Given the description of an element on the screen output the (x, y) to click on. 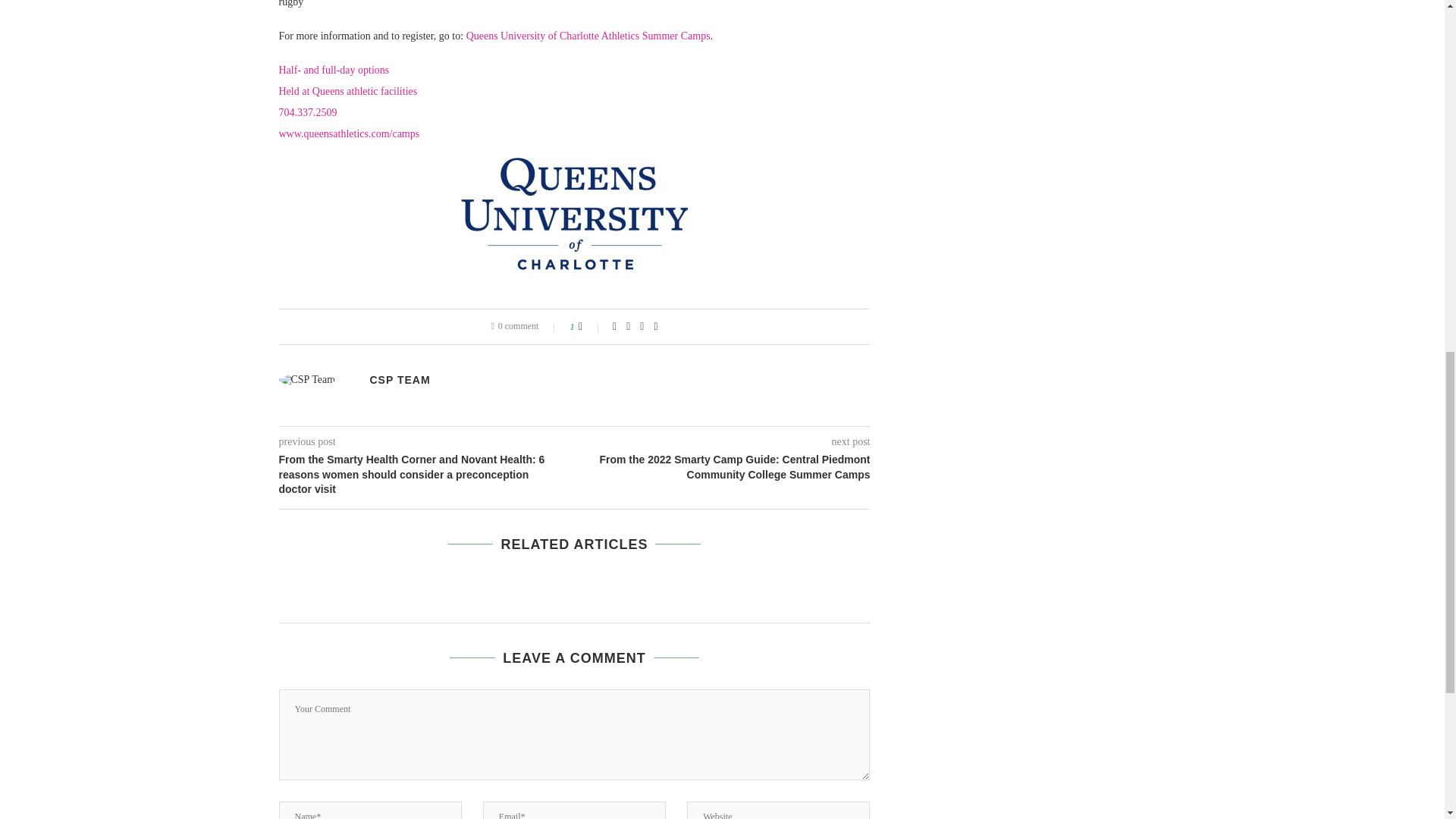
Posts by CSP Team (399, 379)
Like (590, 326)
